Given the description of an element on the screen output the (x, y) to click on. 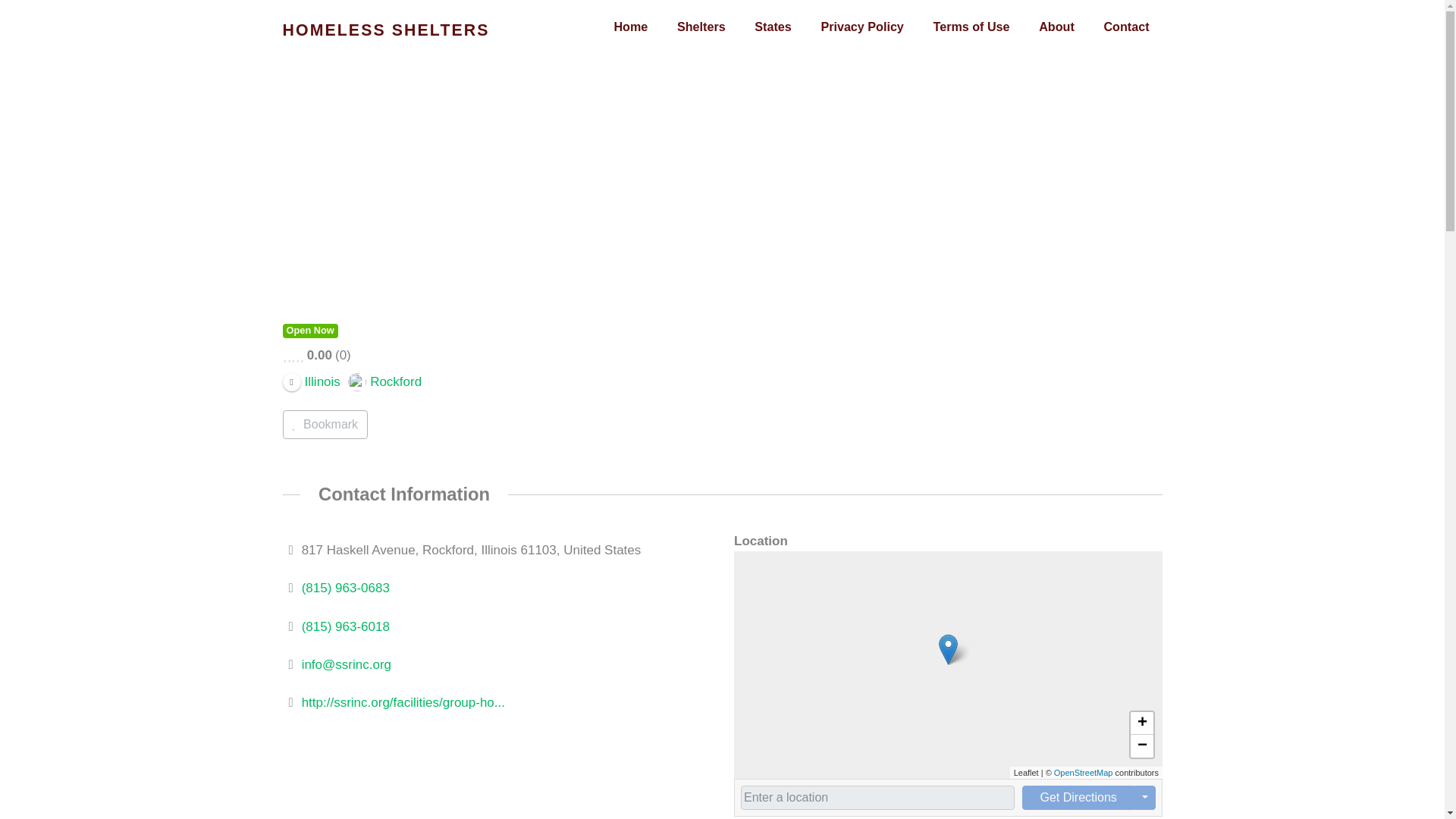
Home (629, 27)
Rockford (384, 381)
Contact (1125, 27)
Privacy Policy (861, 27)
Zoom in (1141, 722)
Illinois (310, 381)
HOMELESS SHELTERS (385, 30)
About (1056, 27)
States (772, 27)
